Given the description of an element on the screen output the (x, y) to click on. 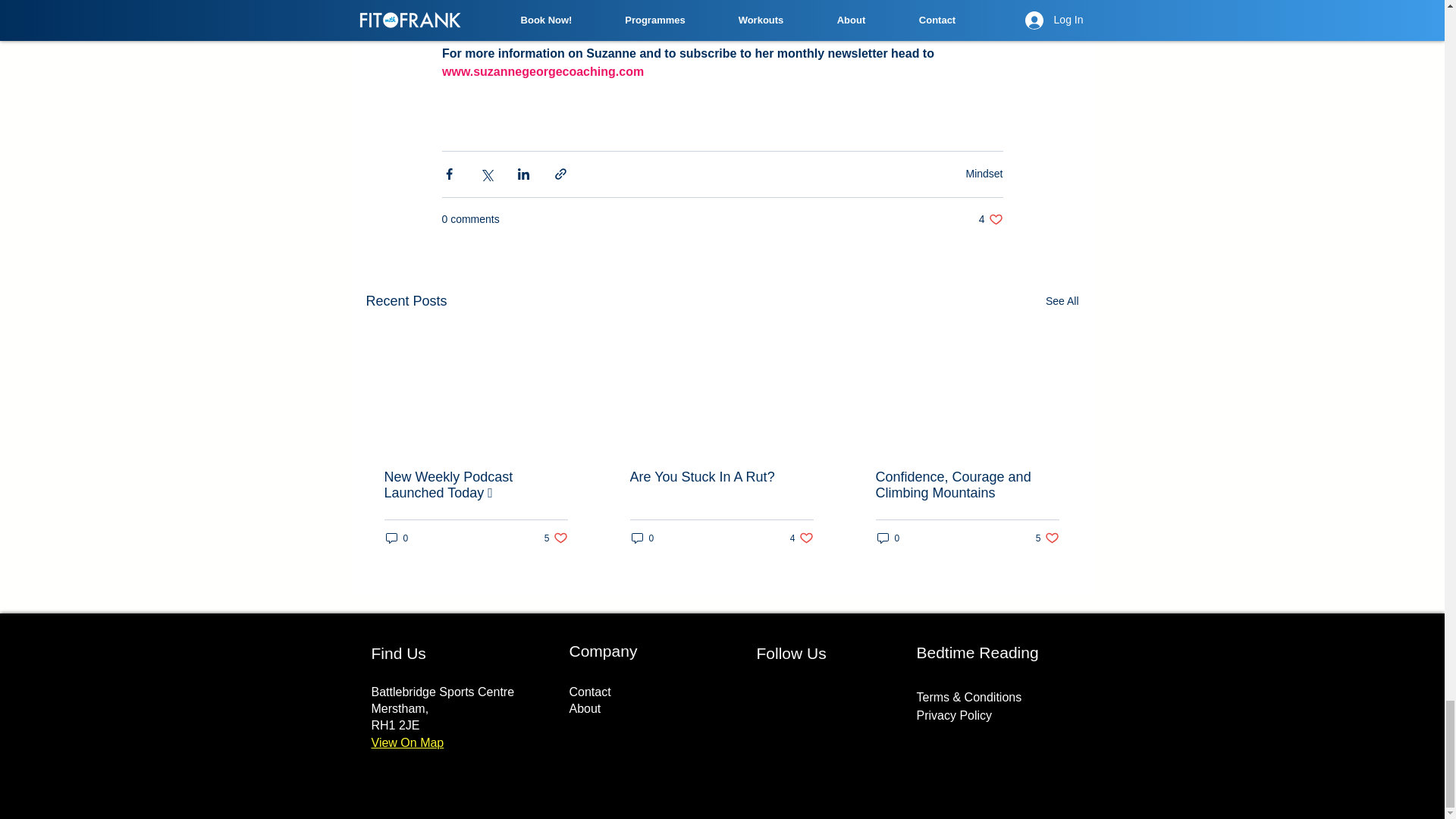
www.suzannegeorgecoaching.com (542, 71)
Contact (589, 691)
0 (801, 537)
See All (396, 537)
0 (1061, 301)
Mindset (888, 537)
Are You Stuck In A Rut? (1047, 537)
Confidence, Courage and Climbing Mountains (984, 173)
